Given the description of an element on the screen output the (x, y) to click on. 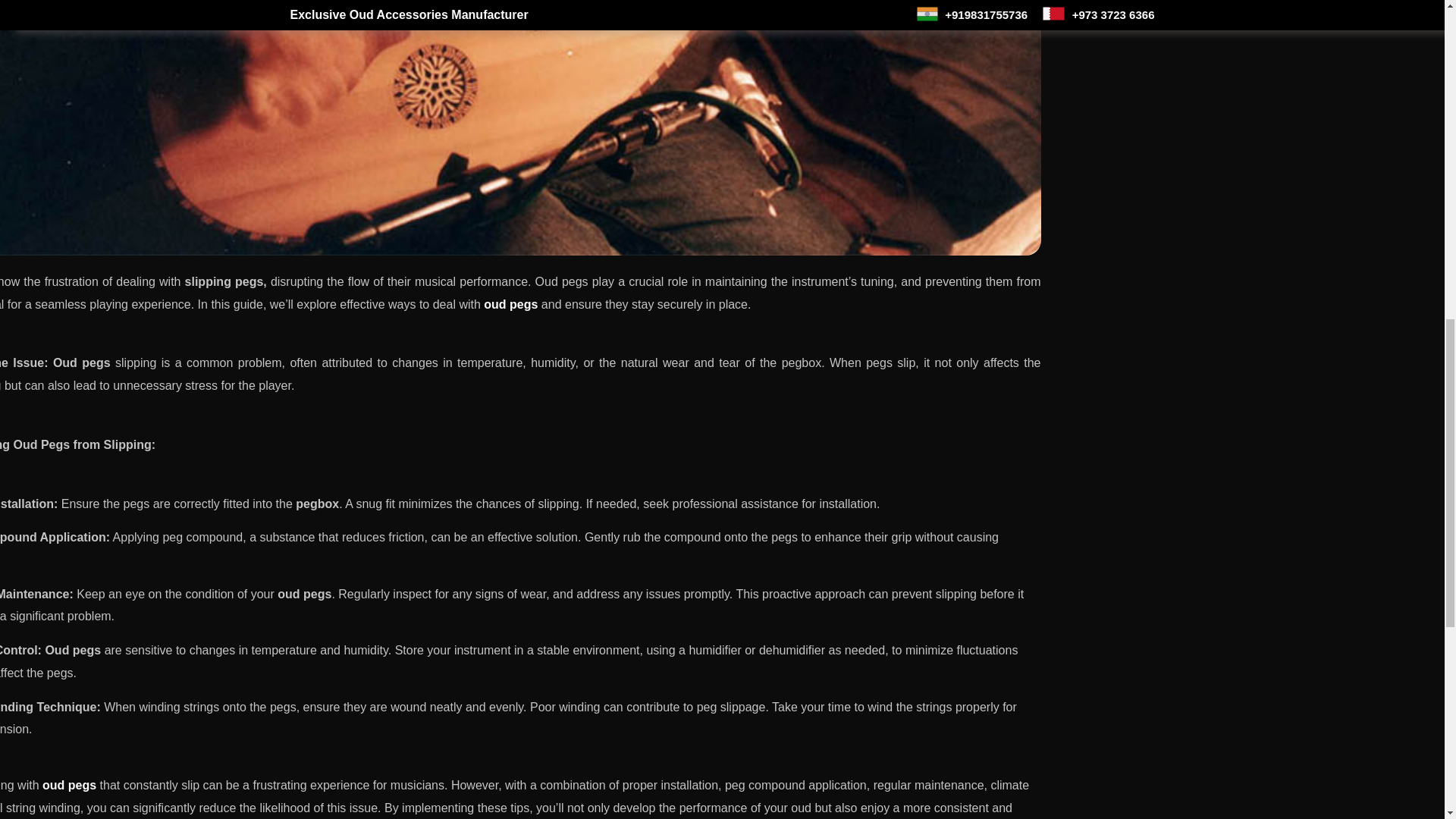
oud pegs (69, 784)
oud pegs (512, 304)
